Given the description of an element on the screen output the (x, y) to click on. 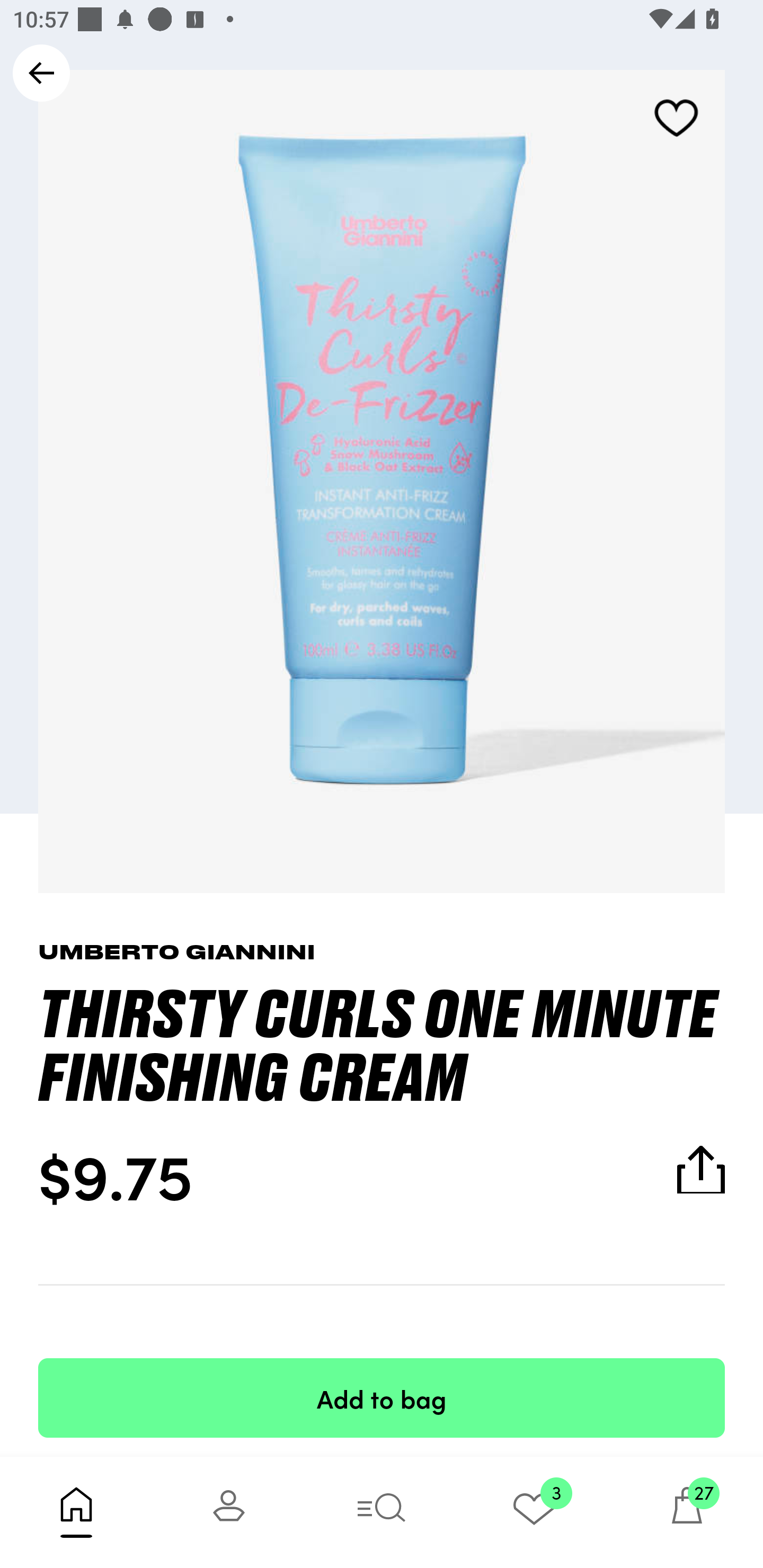
Add to bag (381, 1397)
3 (533, 1512)
27 (686, 1512)
